Given the description of an element on the screen output the (x, y) to click on. 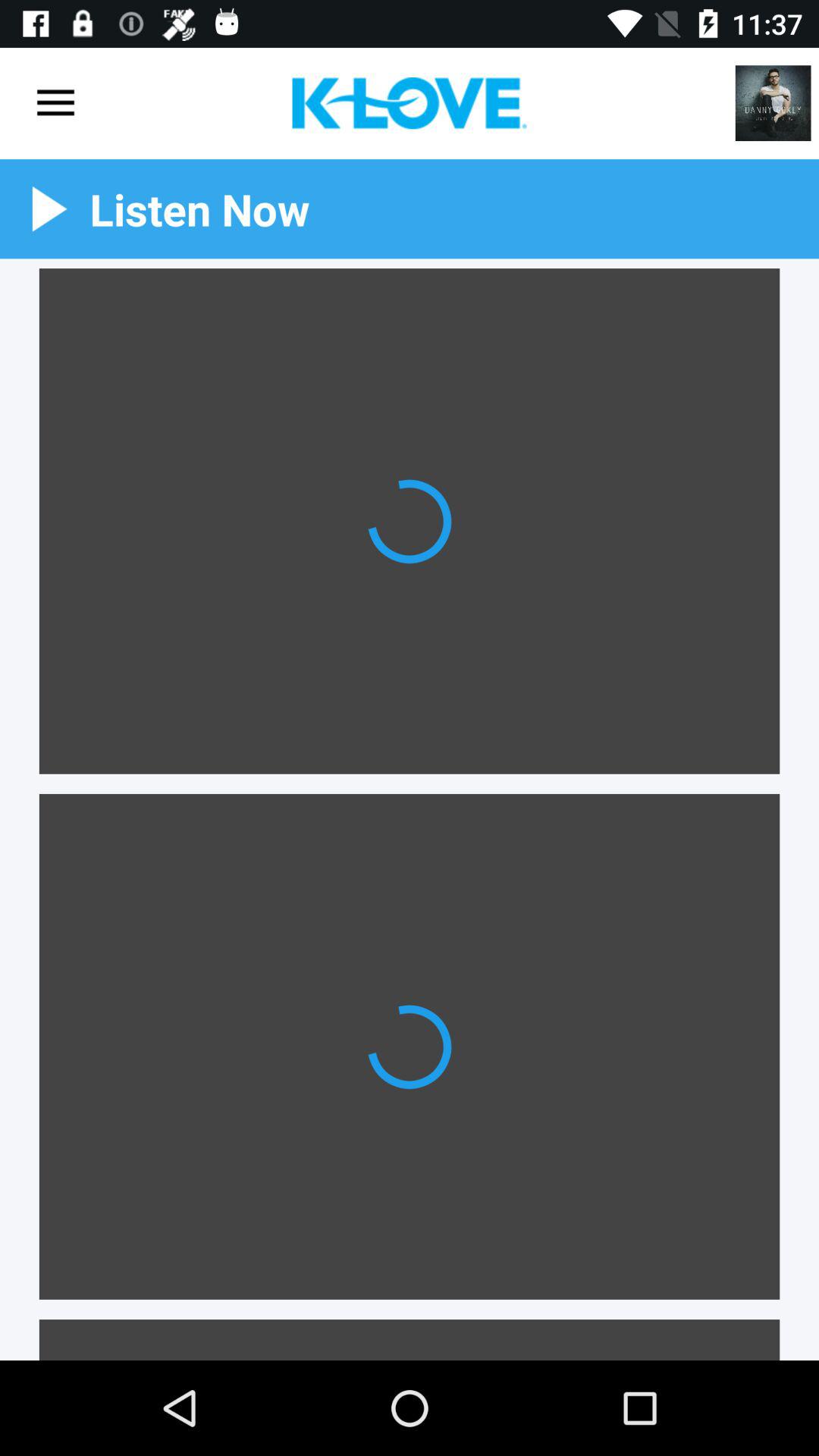
click on the play icon left to listen now at left top of the page (49, 208)
